Given the description of an element on the screen output the (x, y) to click on. 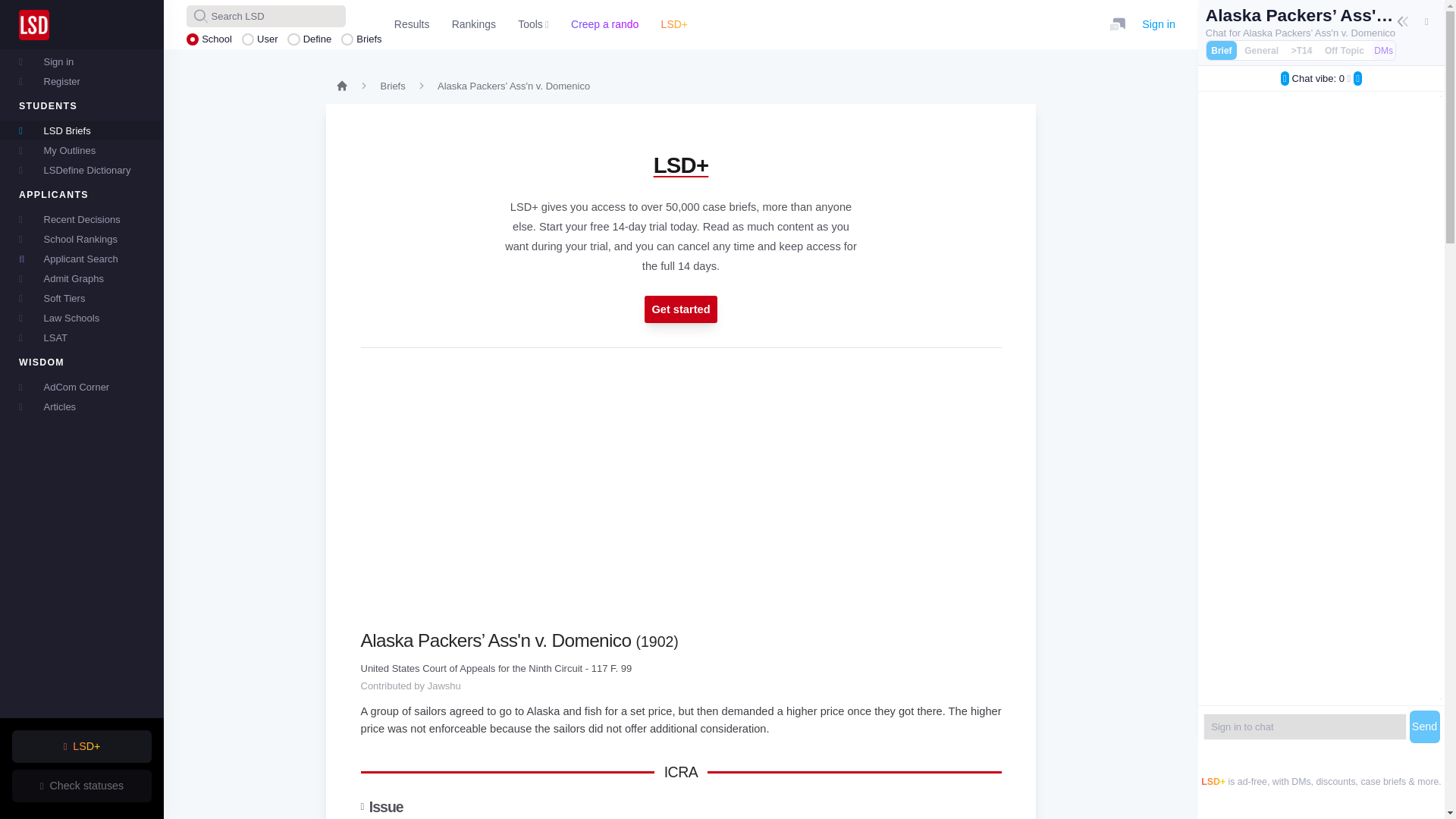
on (1211, 45)
My Outlines (81, 149)
Check statuses (81, 785)
LSD Briefs (81, 130)
Creep a rando (603, 24)
LSDefine Dictionary (81, 169)
on (1324, 45)
Articles (81, 406)
School Rankings (81, 238)
Register (81, 80)
